Given the description of an element on the screen output the (x, y) to click on. 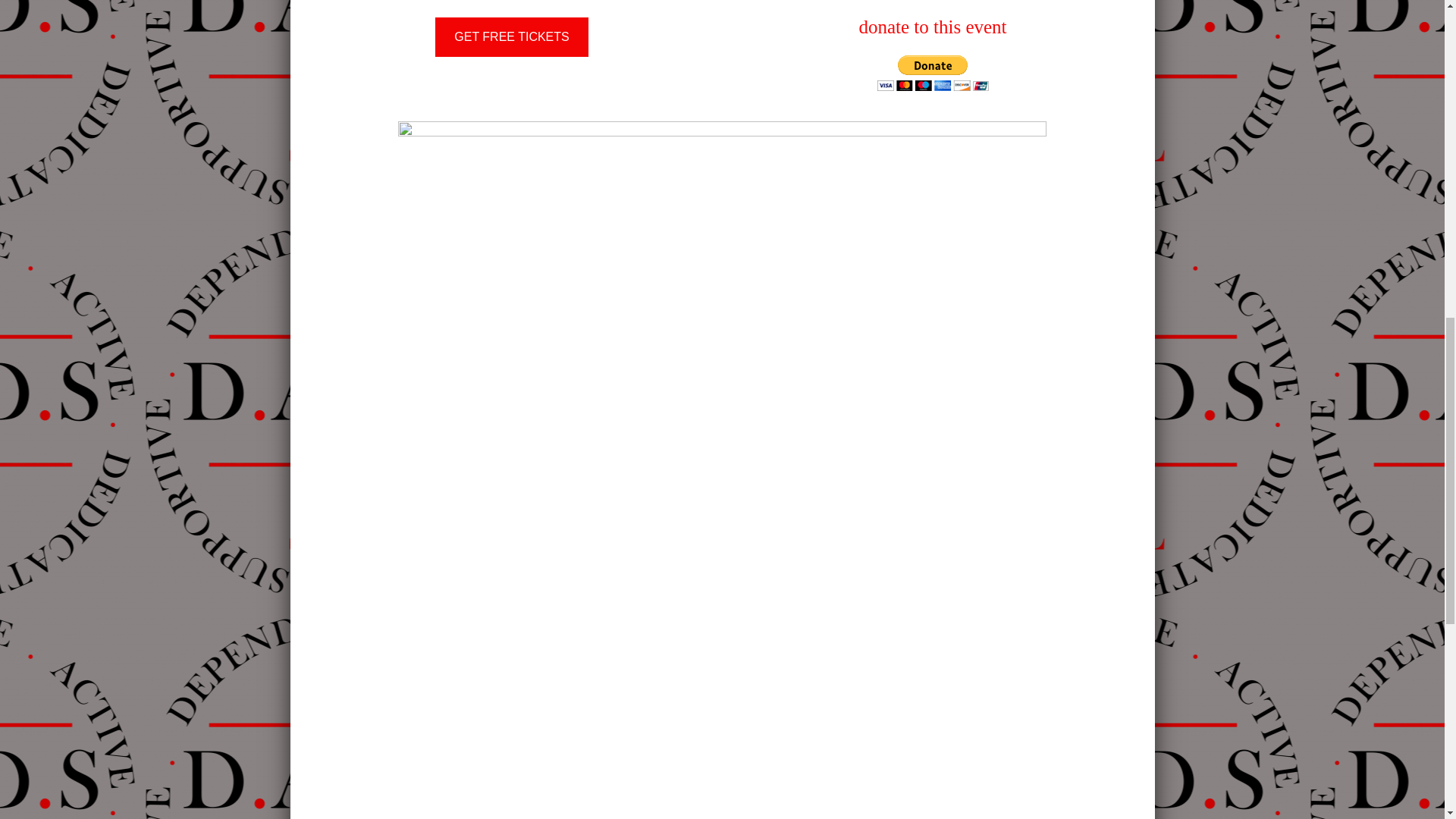
GET FREE TICKETS (510, 36)
PayPal - The safer, easier way to pay online! (932, 72)
